Given the description of an element on the screen output the (x, y) to click on. 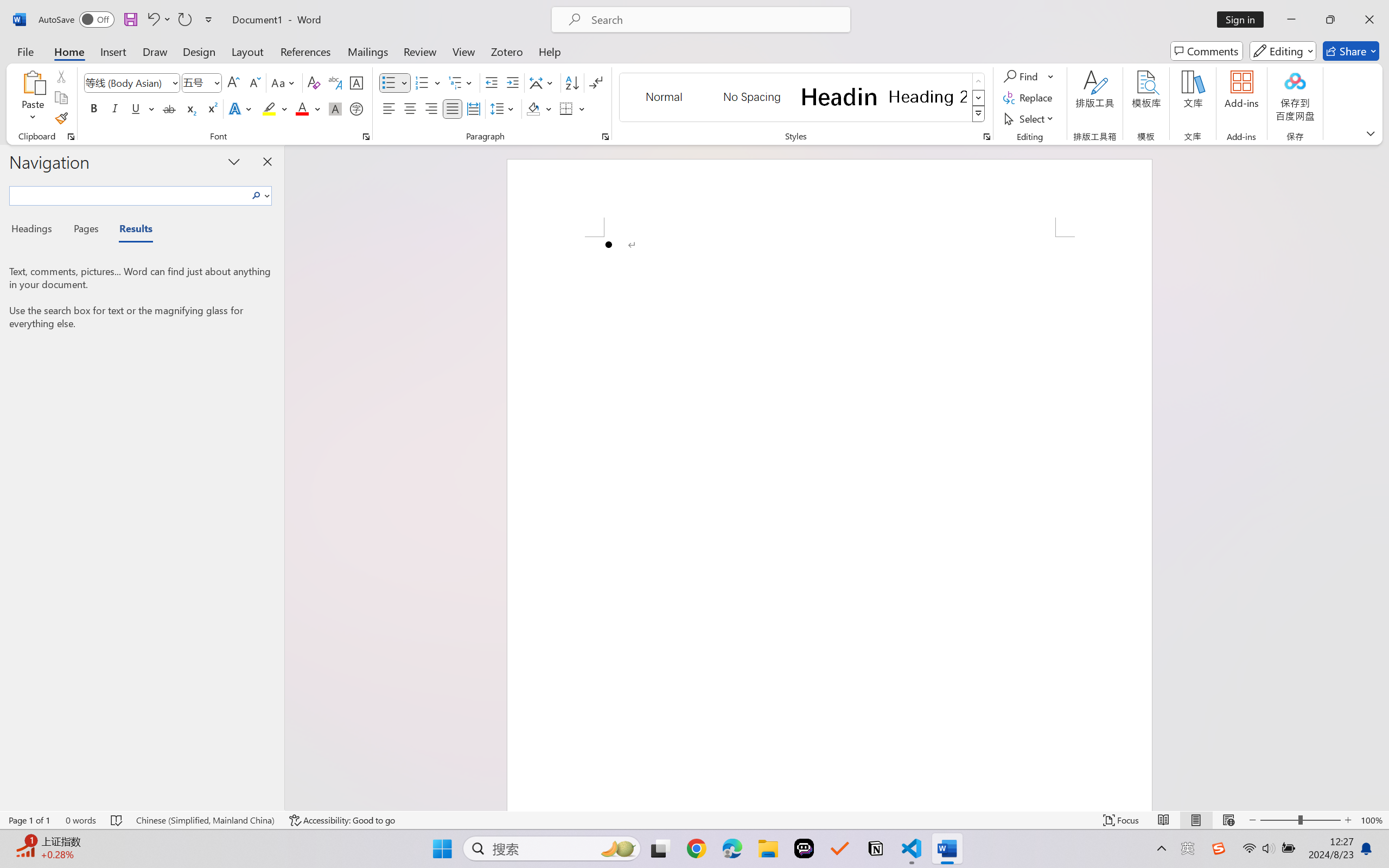
Zoom 100% (1372, 819)
Undo Bullet Default (158, 19)
